Given the description of an element on the screen output the (x, y) to click on. 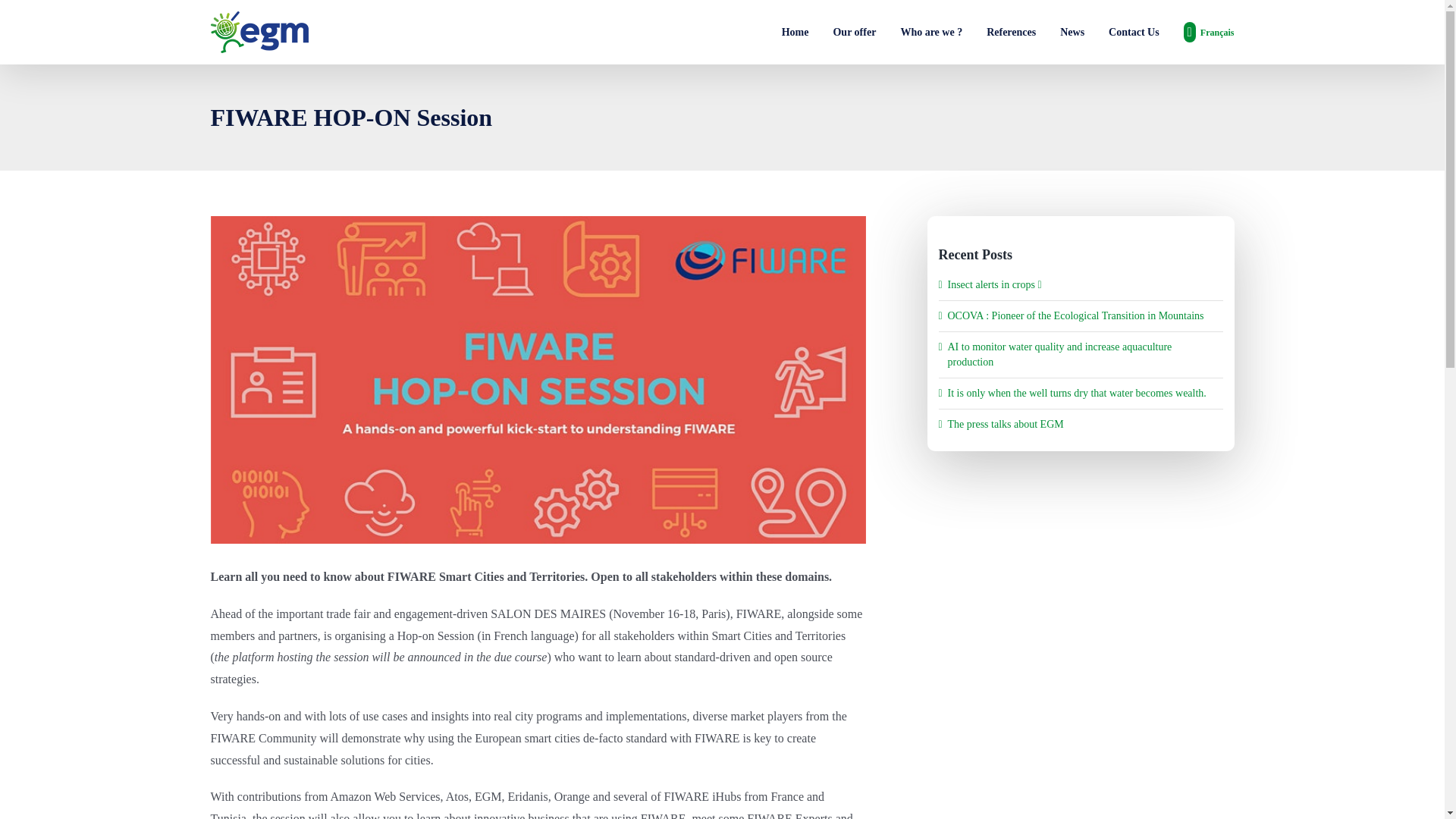
The press talks about EGM (1005, 423)
Who are we ? (930, 32)
OCOVA : Pioneer of the Ecological Transition in Mountains (1075, 315)
